Given the description of an element on the screen output the (x, y) to click on. 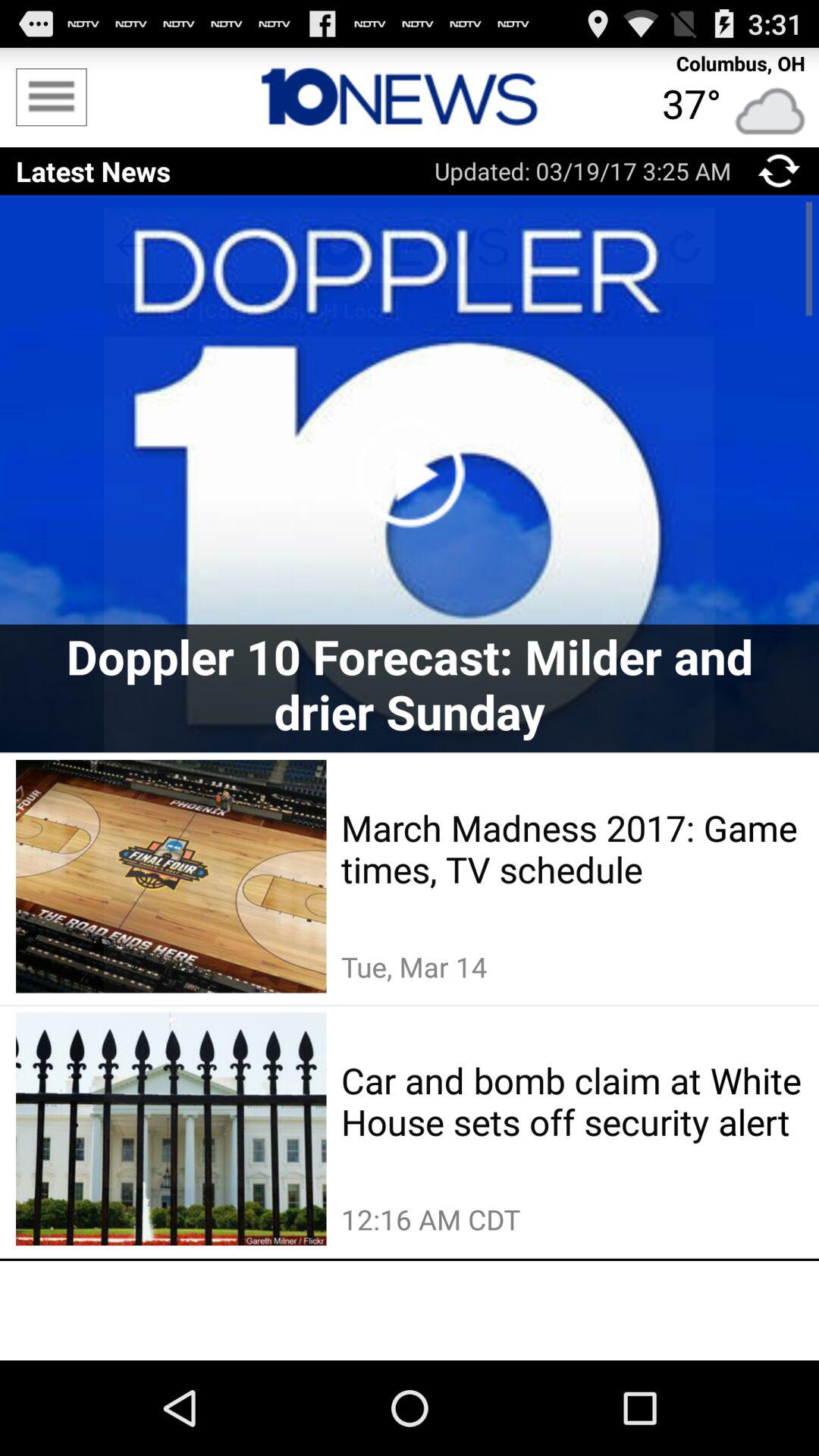
open item above the latest news icon (51, 97)
